Given the description of an element on the screen output the (x, y) to click on. 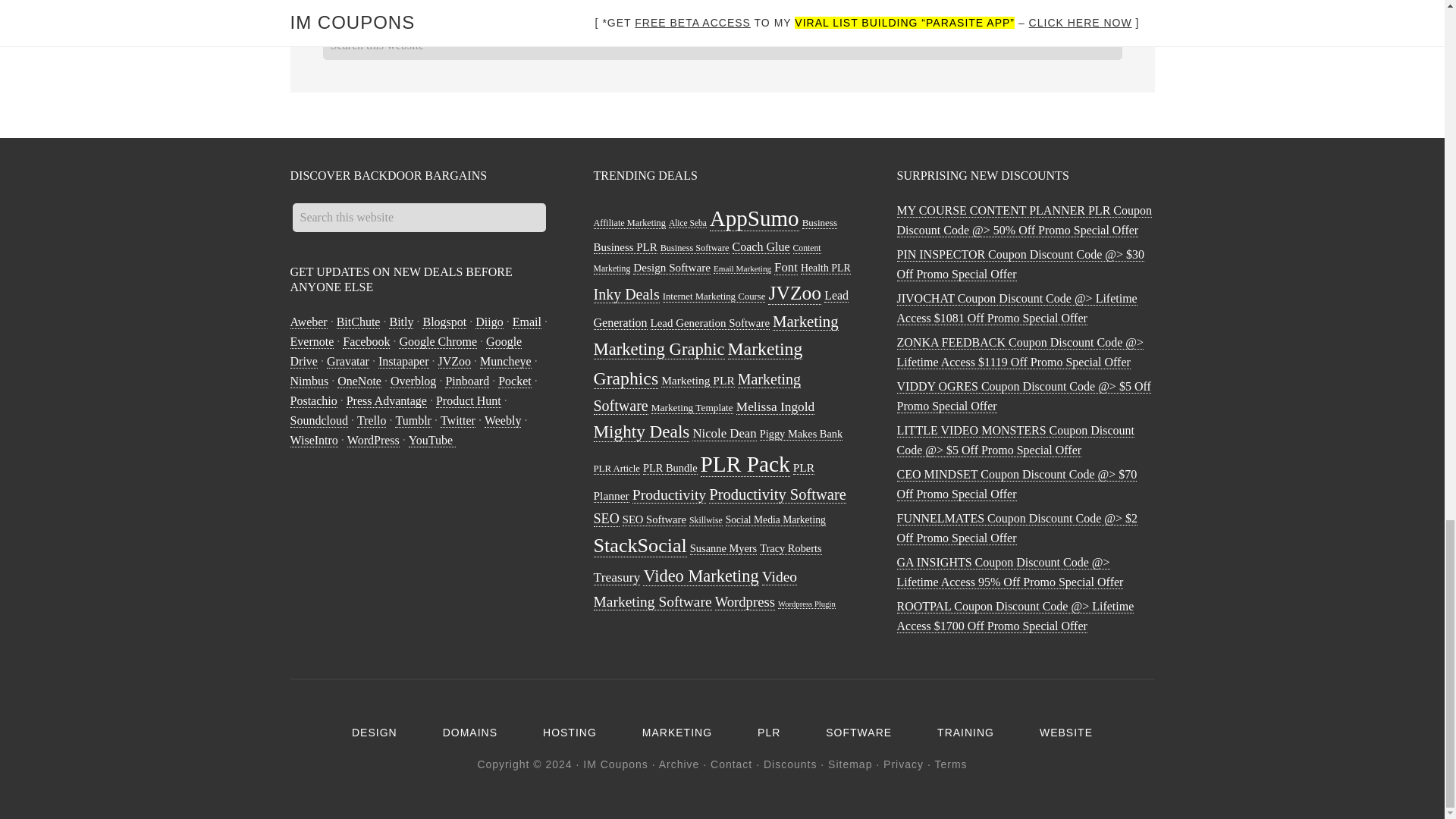
JVZoo (454, 361)
Aweber (307, 322)
Nimbus (309, 381)
Overblog (412, 381)
Instapaper (403, 361)
Pocket (514, 381)
